Given the description of an element on the screen output the (x, y) to click on. 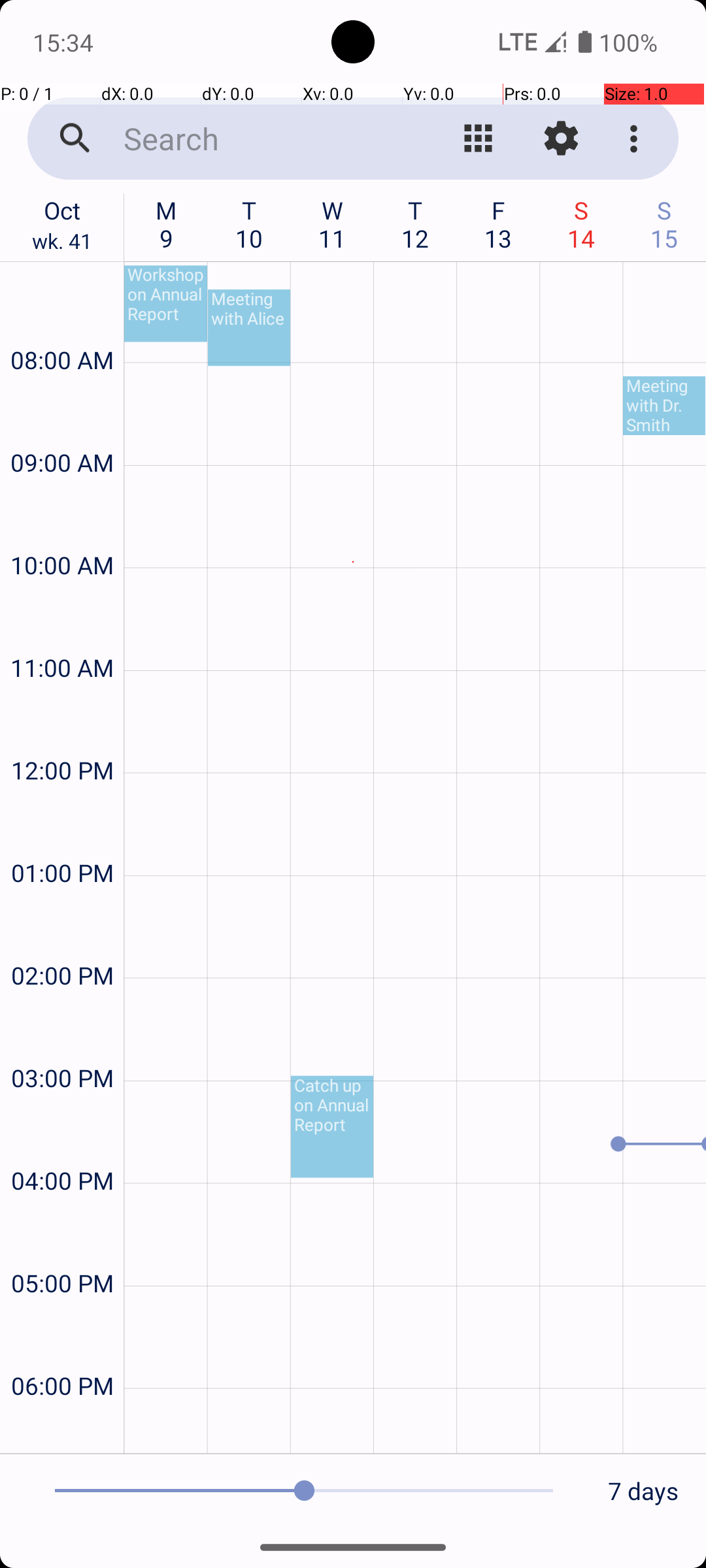
08:00 AM Element type: android.widget.TextView (62, 324)
09:00 AM Element type: android.widget.TextView (62, 427)
10:00 AM Element type: android.widget.TextView (62, 529)
11:00 AM Element type: android.widget.TextView (62, 632)
12:00 PM Element type: android.widget.TextView (62, 735)
01:00 PM Element type: android.widget.TextView (62, 837)
02:00 PM Element type: android.widget.TextView (62, 940)
03:00 PM Element type: android.widget.TextView (62, 1042)
04:00 PM Element type: android.widget.TextView (62, 1145)
05:00 PM Element type: android.widget.TextView (62, 1247)
06:00 PM Element type: android.widget.TextView (62, 1350)
07:00 PM Element type: android.widget.TextView (62, 1428)
Meeting with Alice Element type: android.widget.TextView (248, 327)
